Given the description of an element on the screen output the (x, y) to click on. 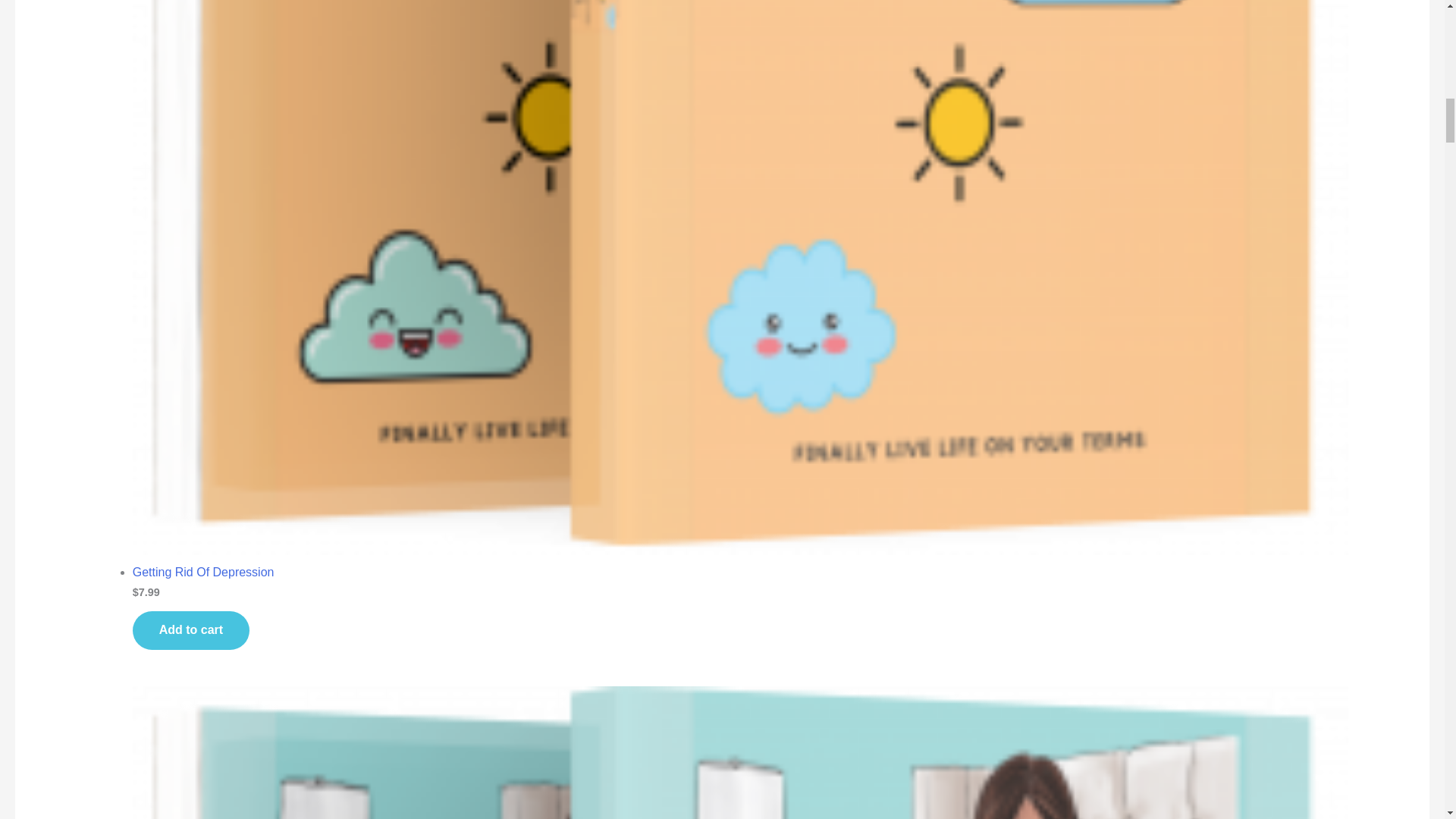
Add to cart (190, 630)
